Given the description of an element on the screen output the (x, y) to click on. 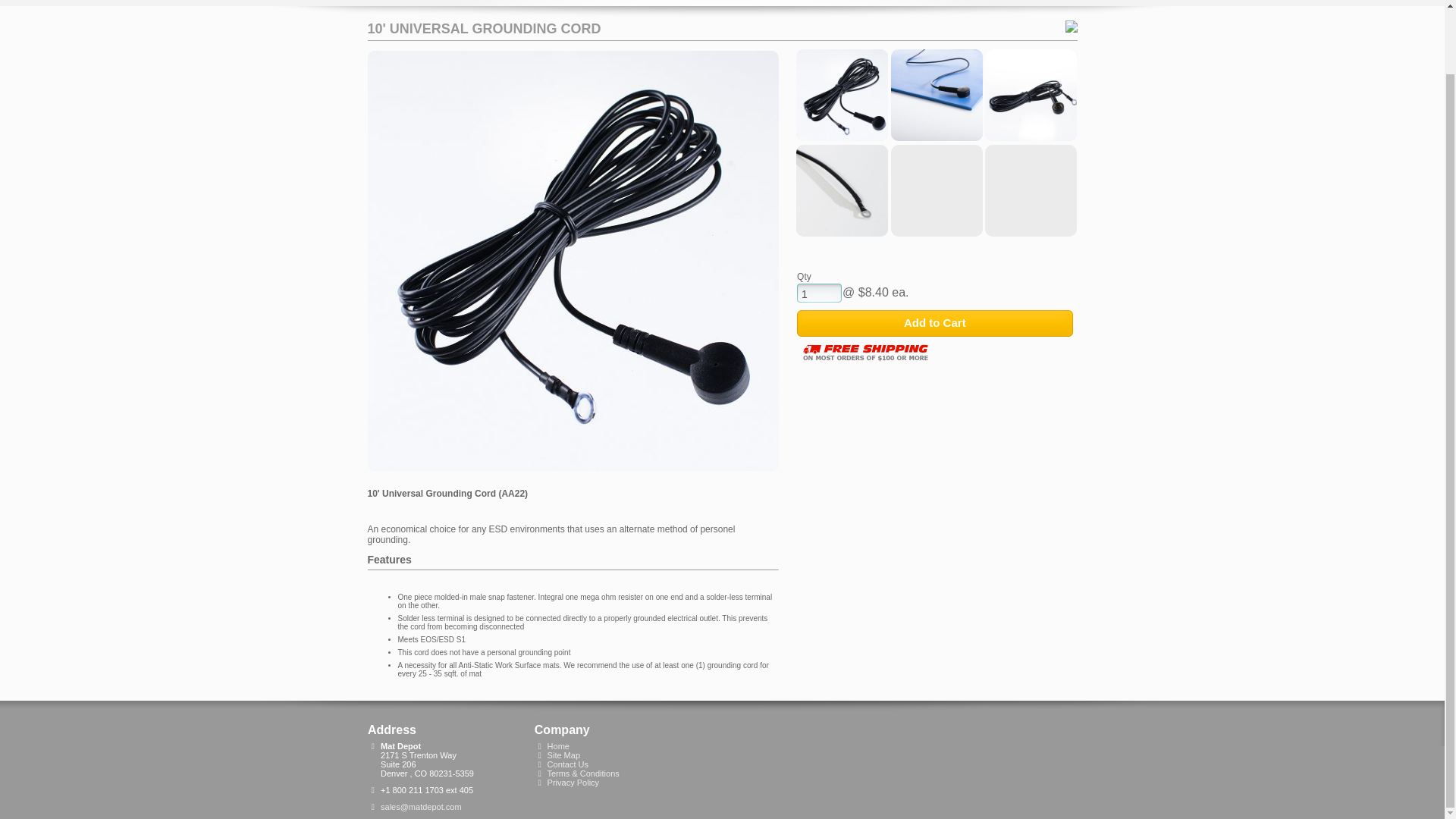
Home (558, 746)
Logo Database (733, 2)
Order Status (580, 2)
Pay Invoices (822, 2)
View Cart (653, 2)
Pay Invoices (822, 2)
Privacy Policy (572, 782)
Request Info (497, 2)
Contact Us (567, 764)
Home (373, 4)
View Cart (653, 2)
Order Status (580, 2)
Home (582, 773)
Add to Cart (933, 322)
Products (423, 2)
